Given the description of an element on the screen output the (x, y) to click on. 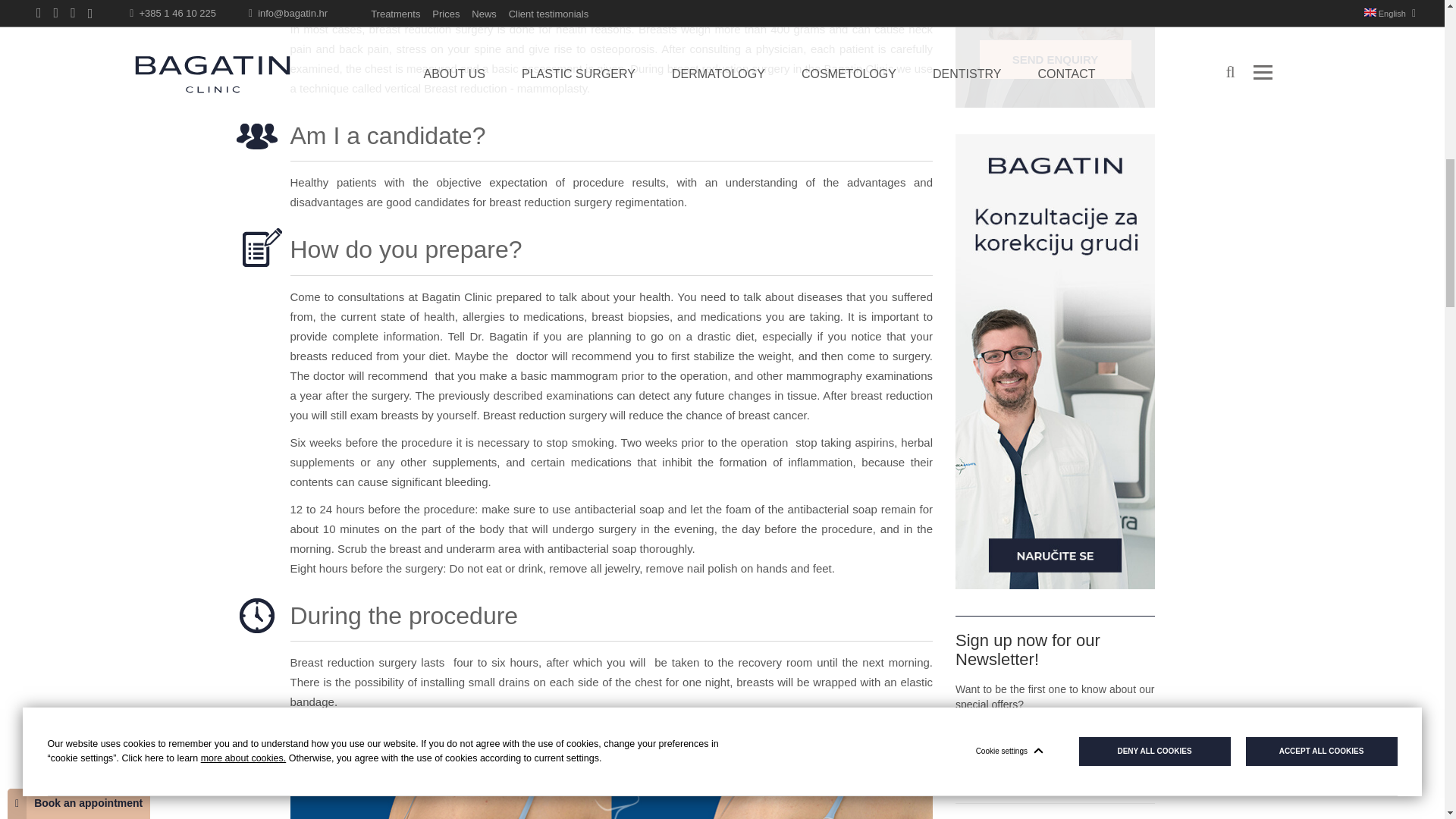
Send (1054, 779)
Breast reduction (611, 778)
